Given the description of an element on the screen output the (x, y) to click on. 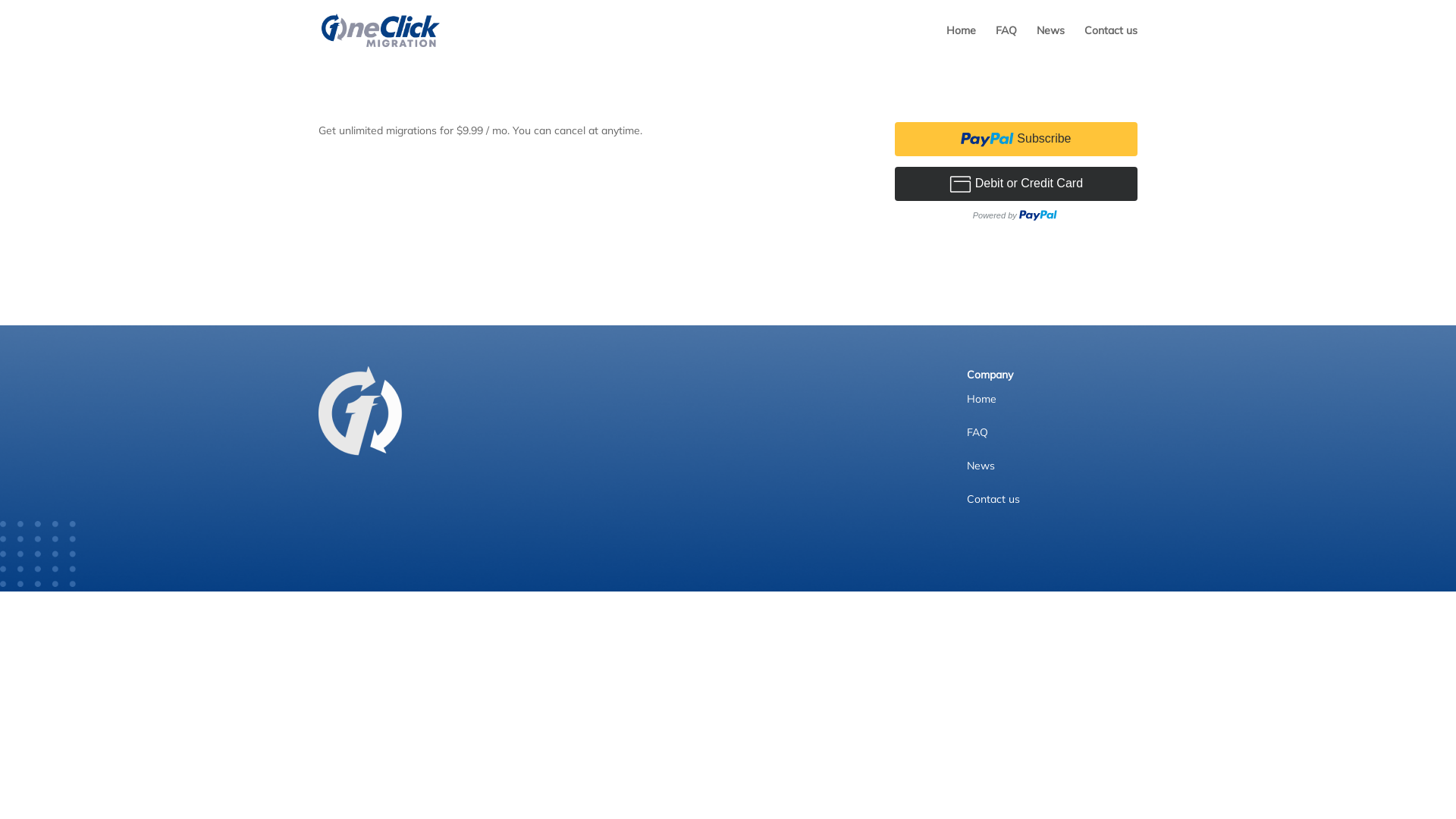
News Element type: text (980, 468)
Contact us Element type: text (992, 501)
PayPal Element type: hover (1015, 175)
FAQ Element type: text (1005, 42)
Home Element type: text (981, 401)
FAQ Element type: text (977, 434)
Contact us Element type: text (1110, 42)
News Element type: text (1050, 42)
1cm Element type: hover (360, 410)
Home Element type: text (960, 42)
